Given the description of an element on the screen output the (x, y) to click on. 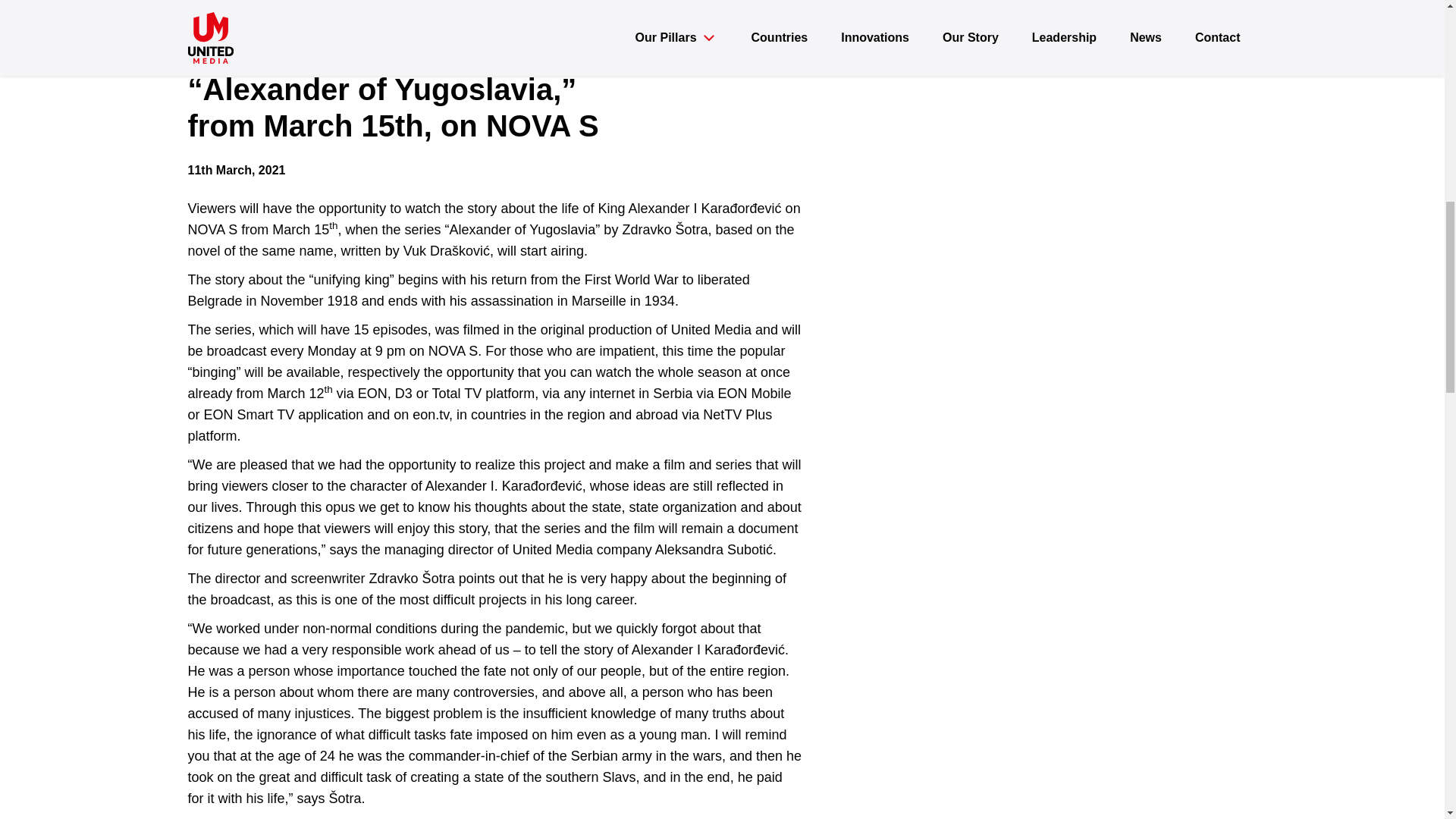
Back to All News (246, 32)
